Given the description of an element on the screen output the (x, y) to click on. 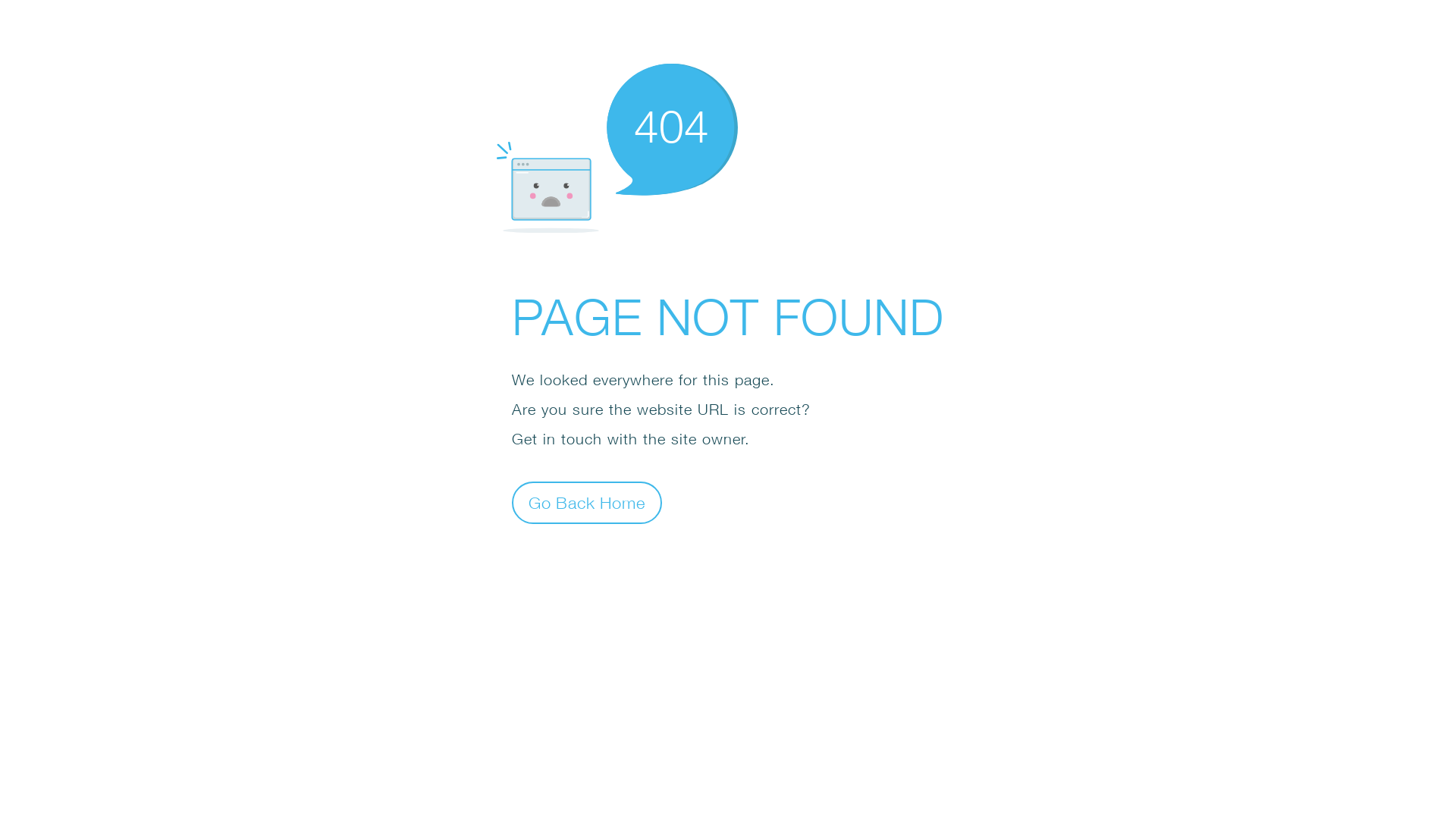
Go Back Home Element type: text (586, 502)
